Given the description of an element on the screen output the (x, y) to click on. 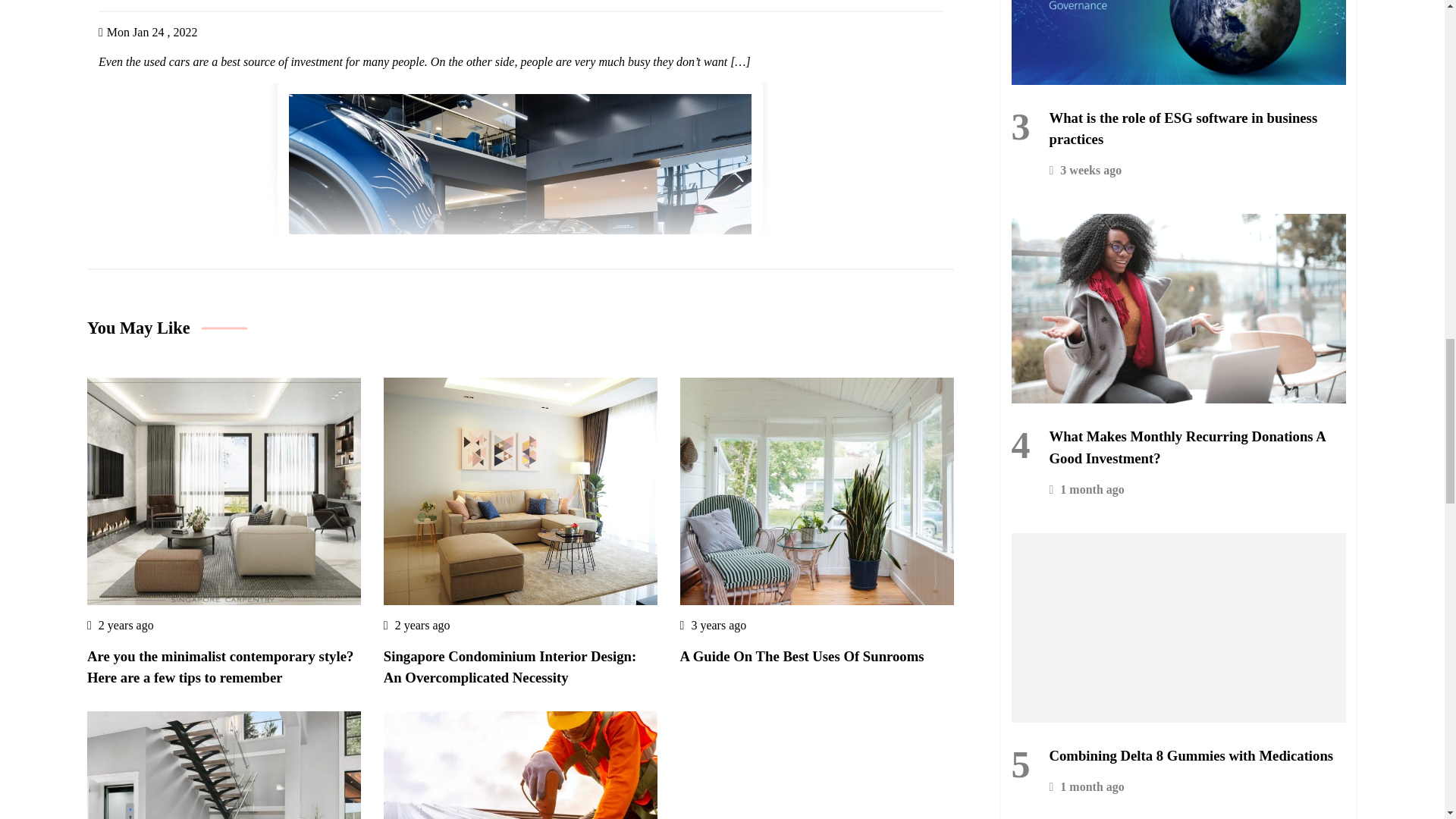
A Guide On The Best Uses Of Sunrooms (801, 656)
Simple steps to buy used cars (520, 6)
